Given the description of an element on the screen output the (x, y) to click on. 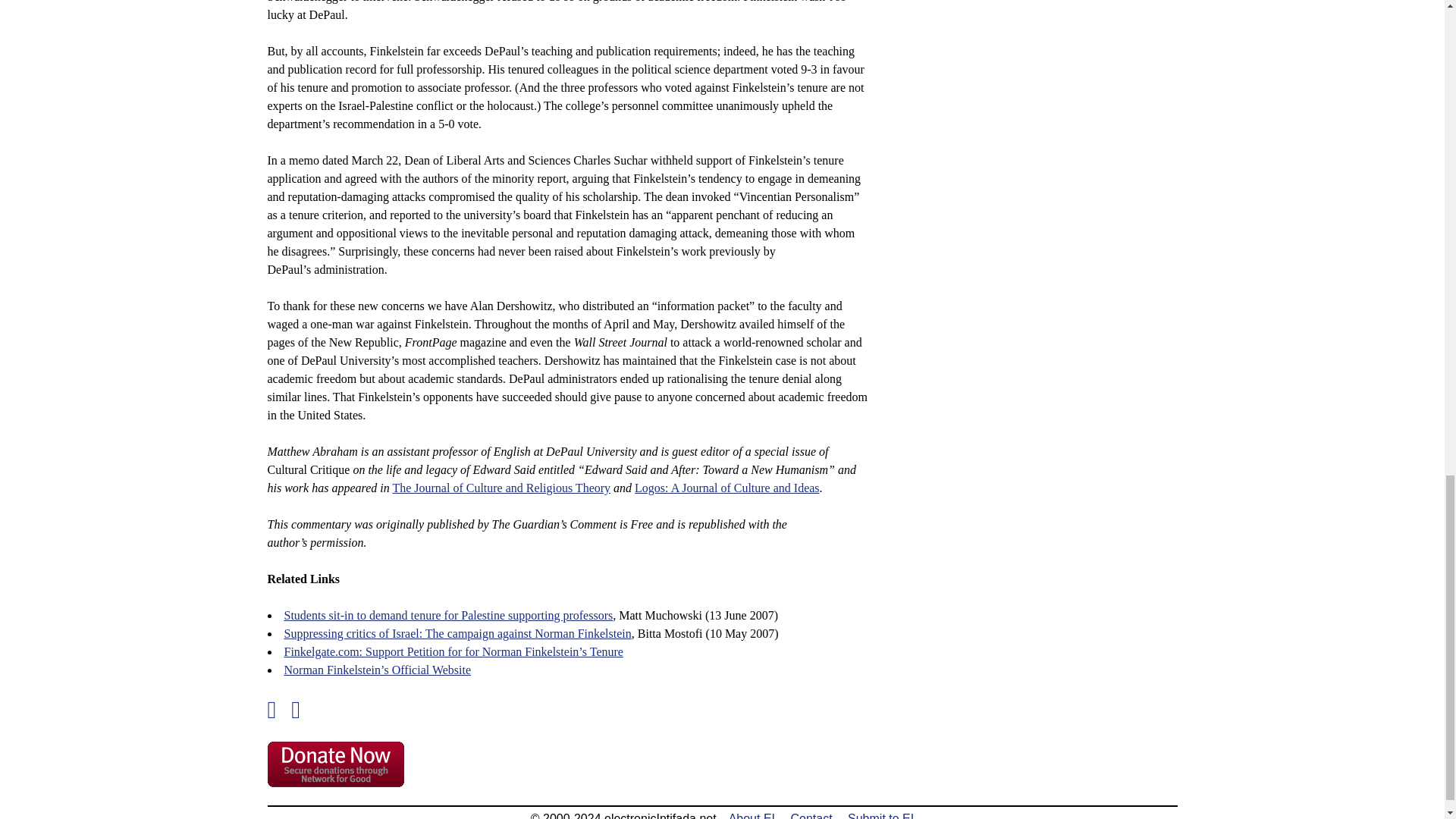
Logos: A Journal of Culture and Ideas (726, 487)
The Journal of Culture and Religious Theory (500, 487)
